Given the description of an element on the screen output the (x, y) to click on. 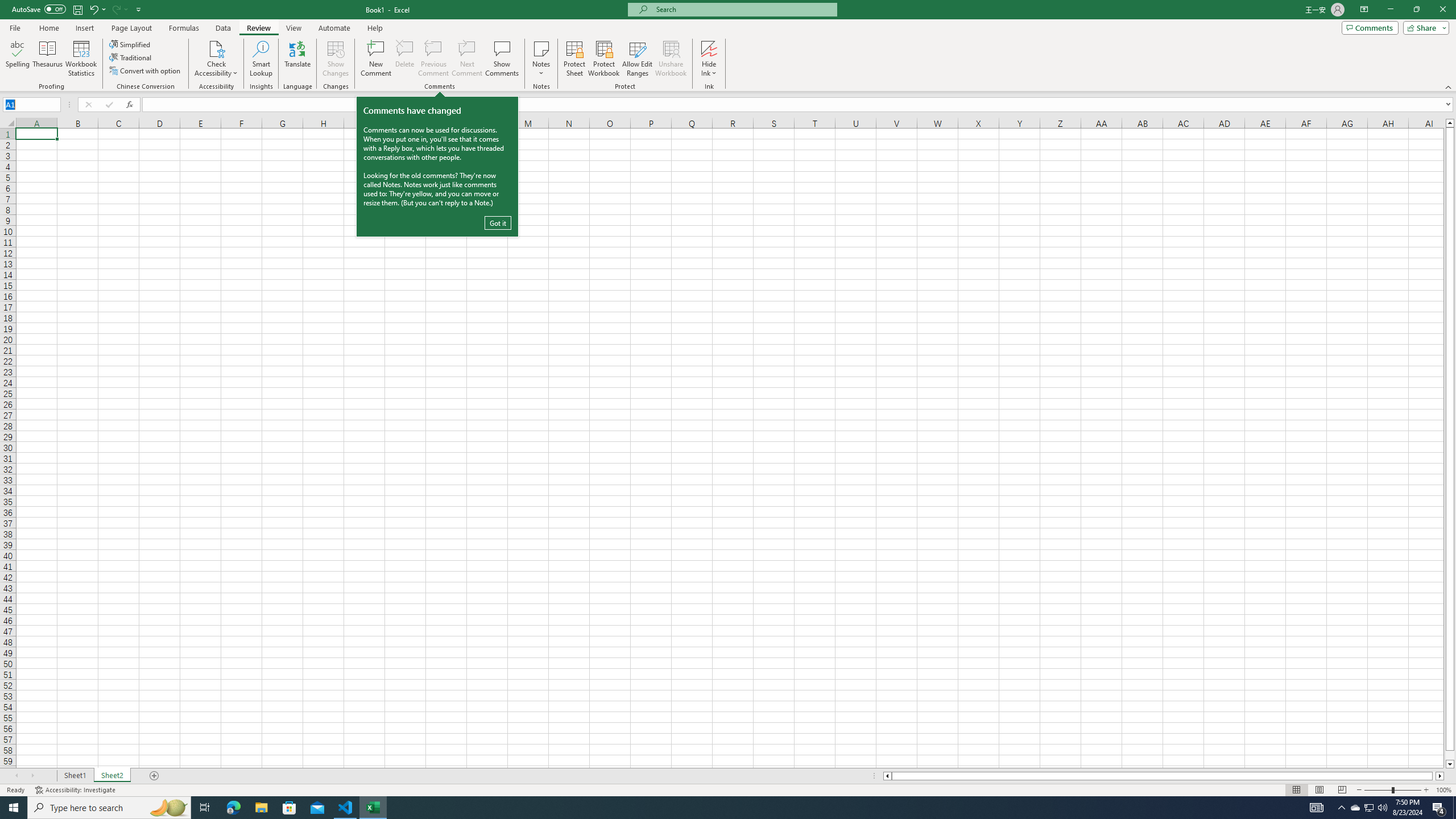
Next Comment (466, 58)
Delete (404, 58)
Microsoft search (742, 9)
Allow Edit Ranges (637, 58)
Sheet2 (112, 775)
Traditional (131, 56)
Workbook Statistics (81, 58)
